Given the description of an element on the screen output the (x, y) to click on. 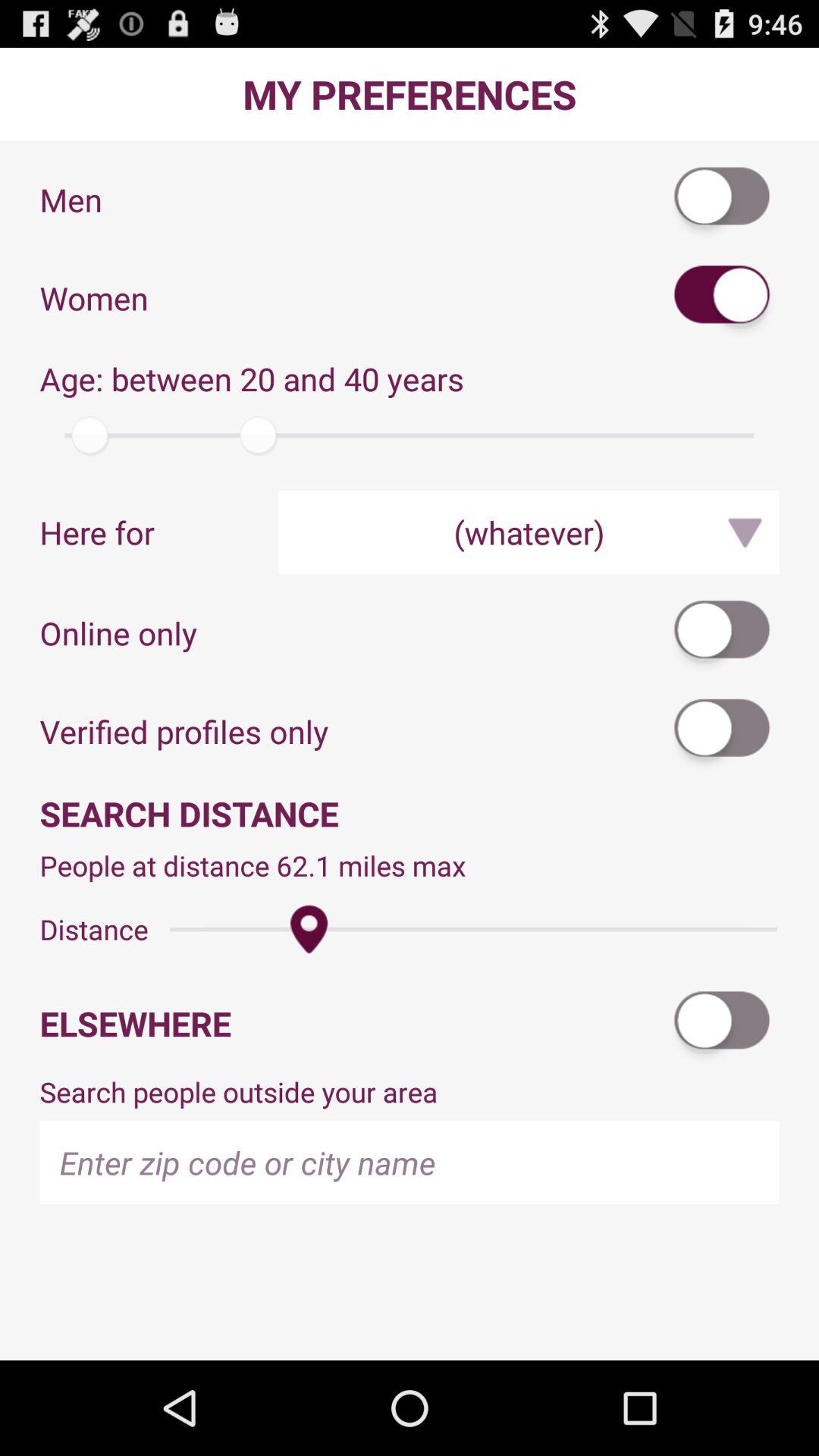
gender option (722, 199)
